Given the description of an element on the screen output the (x, y) to click on. 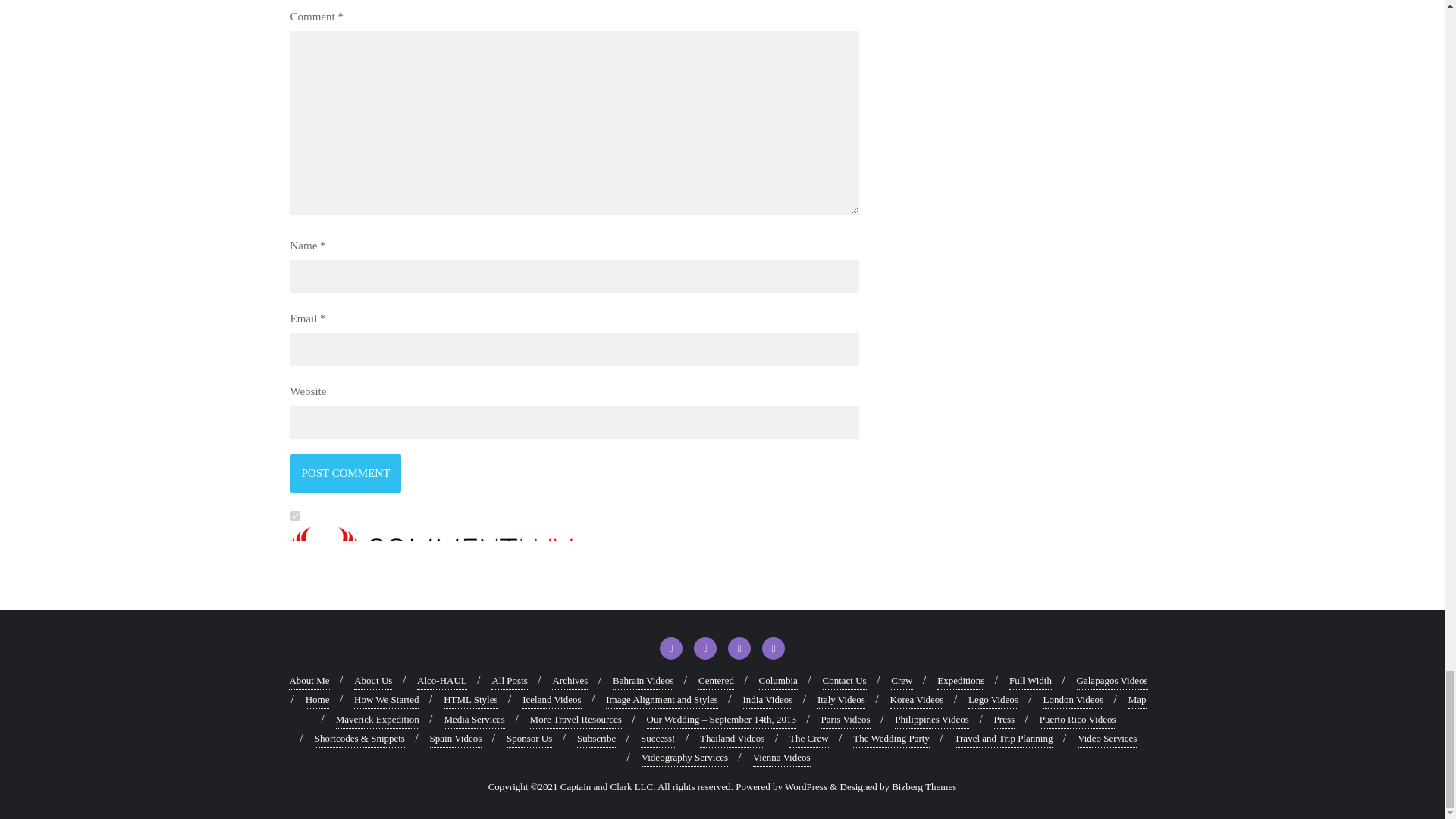
Post Comment (345, 473)
on (294, 515)
CommentLuv is enabled (574, 557)
